Given the description of an element on the screen output the (x, y) to click on. 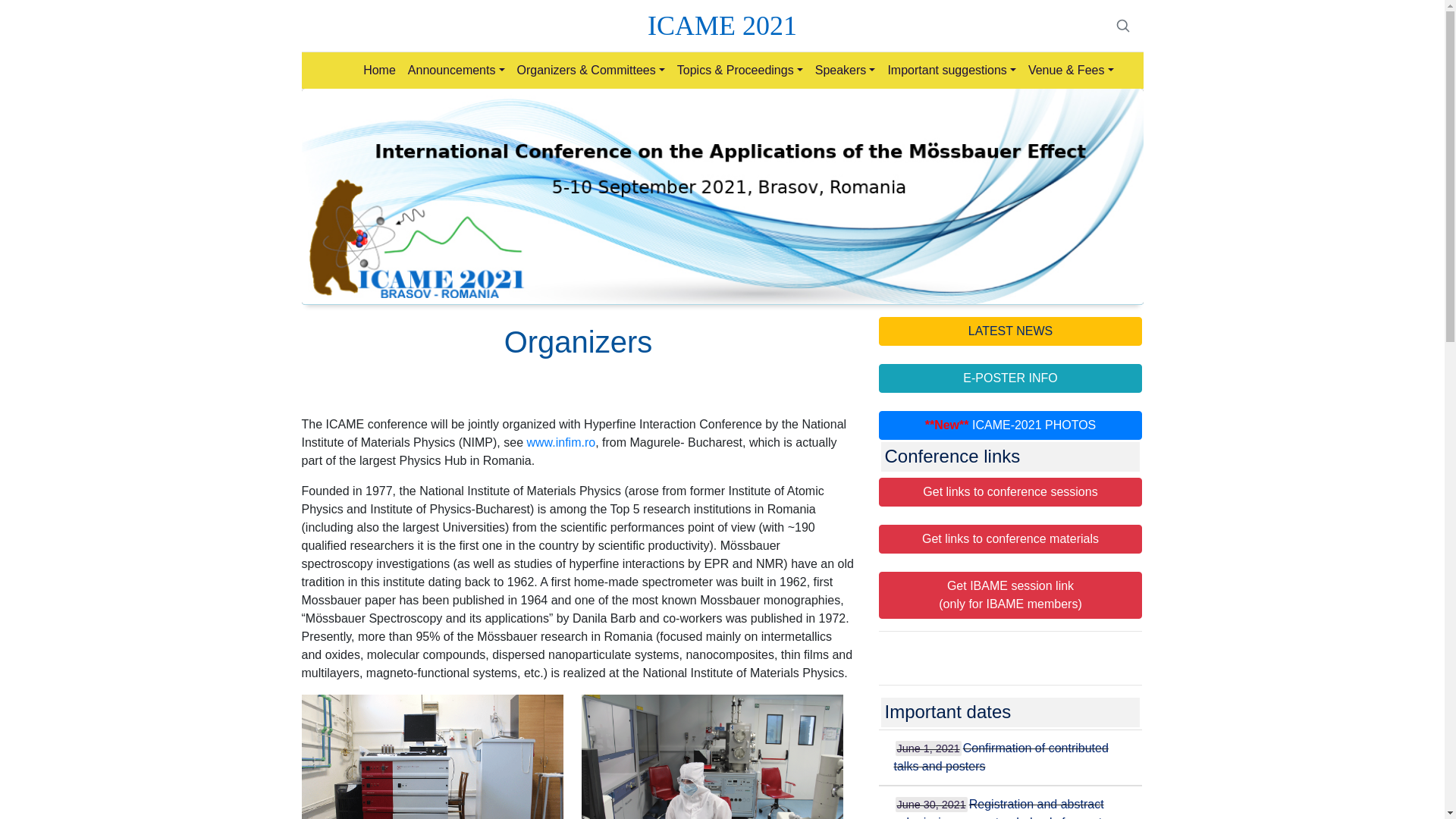
Speakers (845, 70)
ICAME 2021 (722, 25)
Get links to conference sessions (1009, 491)
Search (1123, 25)
Get links to conference materials (1009, 538)
LATEST NEWS (1009, 330)
Announcements (456, 70)
Important suggestions (951, 70)
Announcements (456, 70)
Important suggestions (951, 70)
www.infim.ro (560, 441)
Speakers (845, 70)
Home (378, 70)
E-POSTER INFO (1009, 378)
Home (378, 70)
